Given the description of an element on the screen output the (x, y) to click on. 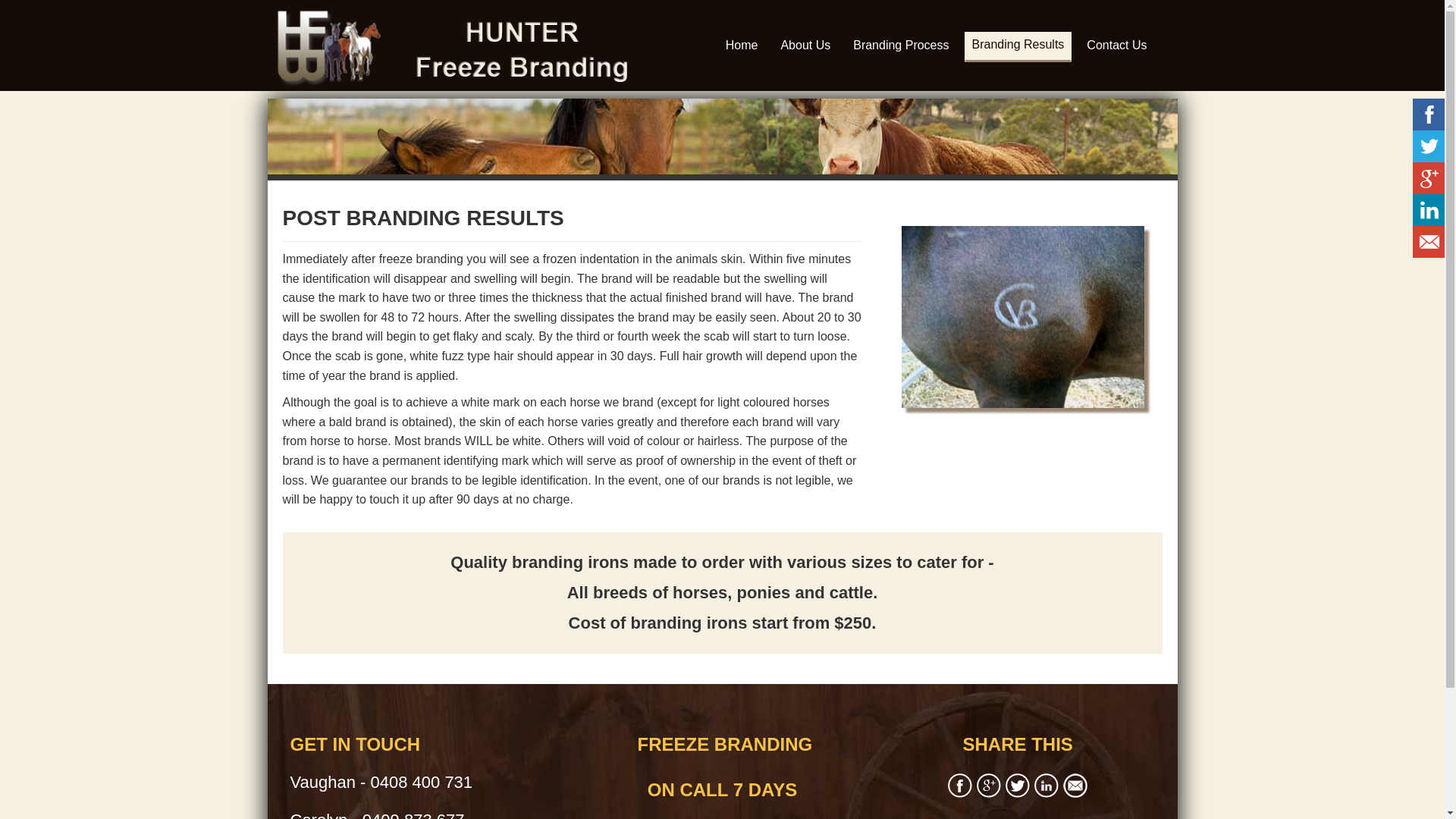
Share on Twitter Element type: hover (1017, 785)
About Us Element type: text (805, 48)
Contact Us Element type: text (1116, 48)
Recommend this page Element type: hover (1075, 785)
Share on Facebook Element type: hover (959, 785)
Branding Results Element type: text (1018, 48)
Share on Google Element type: hover (988, 785)
Share on LinkedIn Element type: hover (1046, 785)
Home Element type: text (741, 48)
Branding Process Element type: text (900, 48)
